Given the description of an element on the screen output the (x, y) to click on. 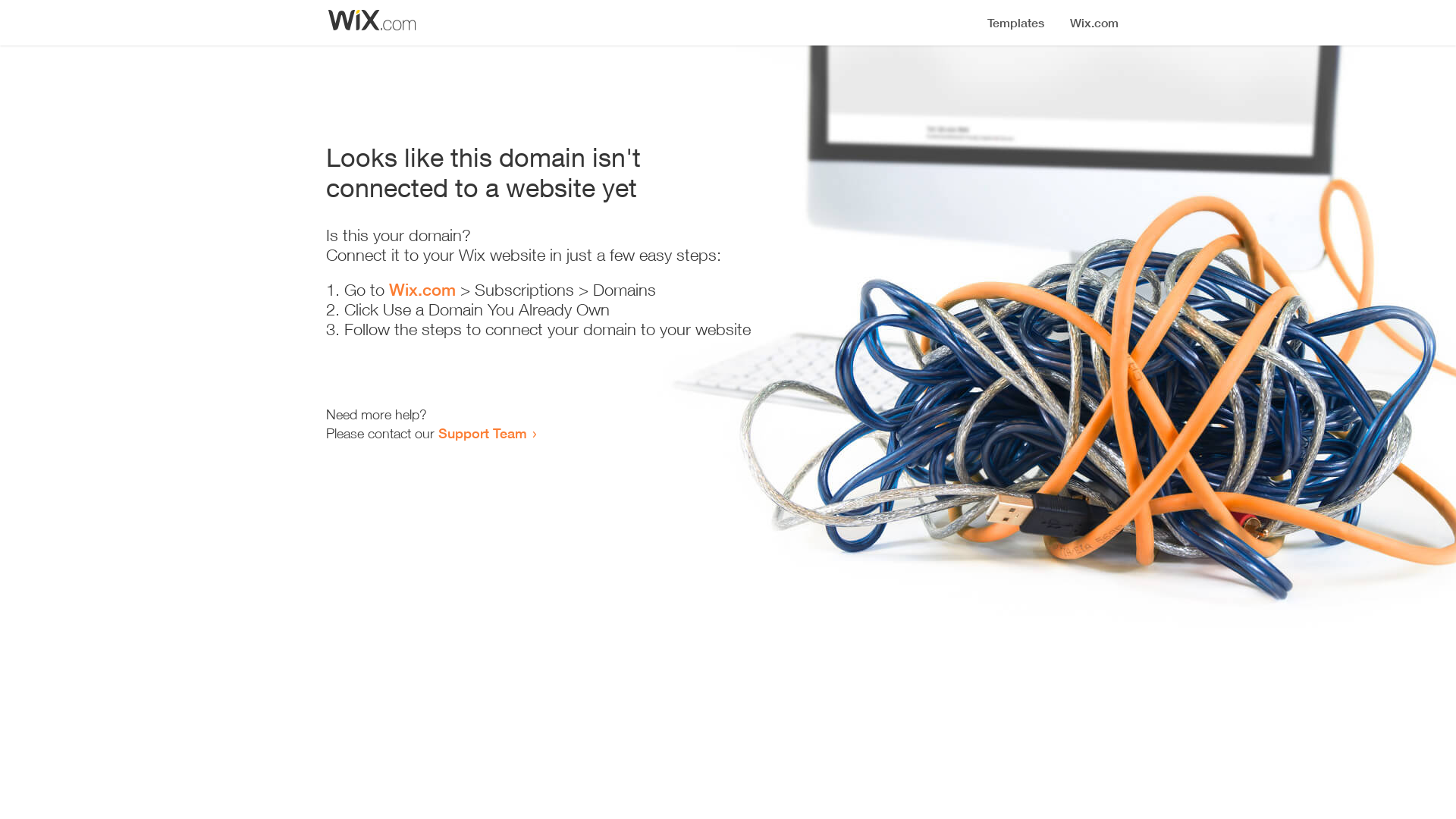
Support Team Element type: text (482, 432)
Wix.com Element type: text (422, 289)
